Given the description of an element on the screen output the (x, y) to click on. 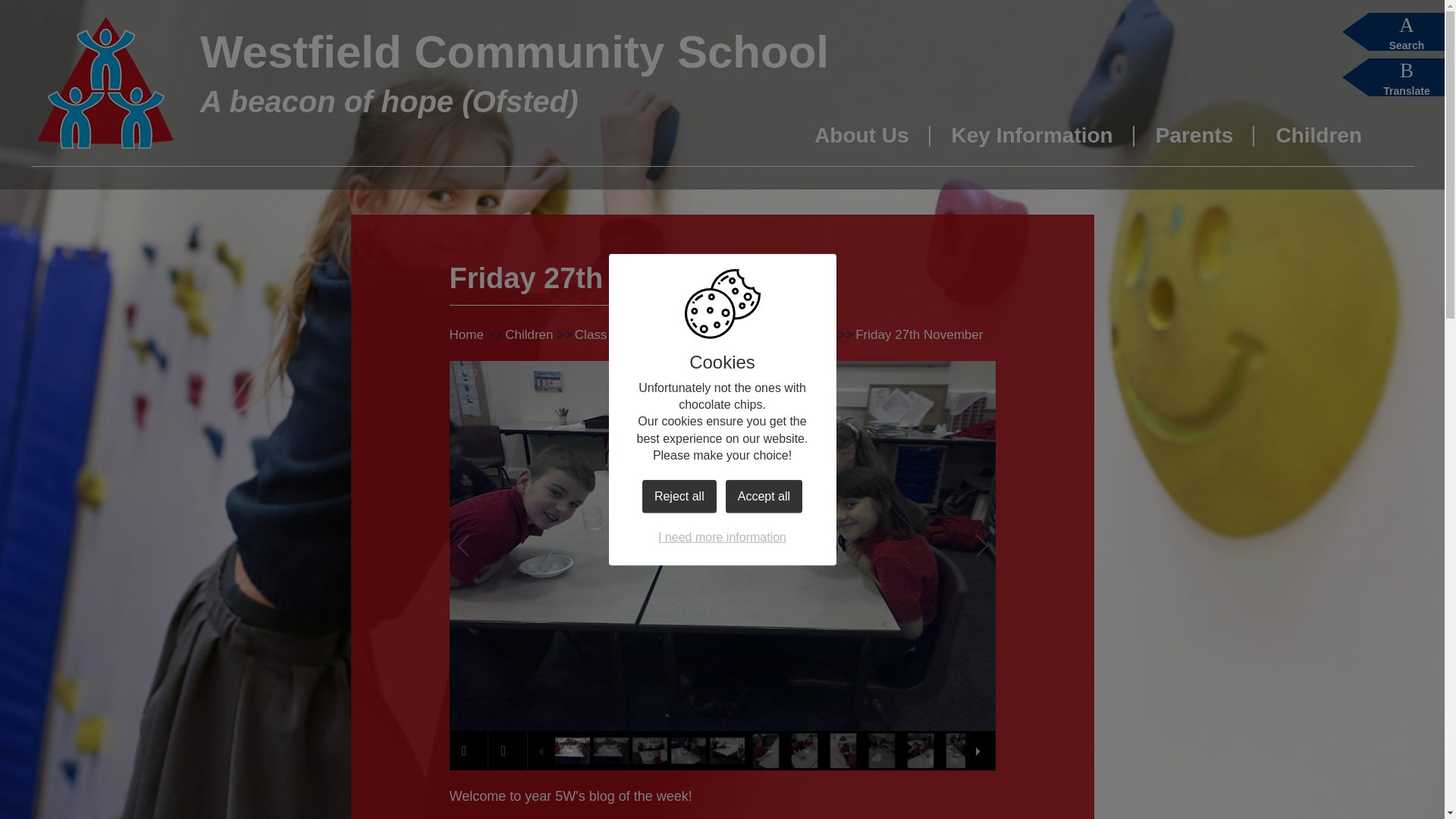
Key Information (1032, 142)
Home Page (105, 82)
Parents (1194, 142)
About Us (861, 142)
Home Page (105, 82)
